Given the description of an element on the screen output the (x, y) to click on. 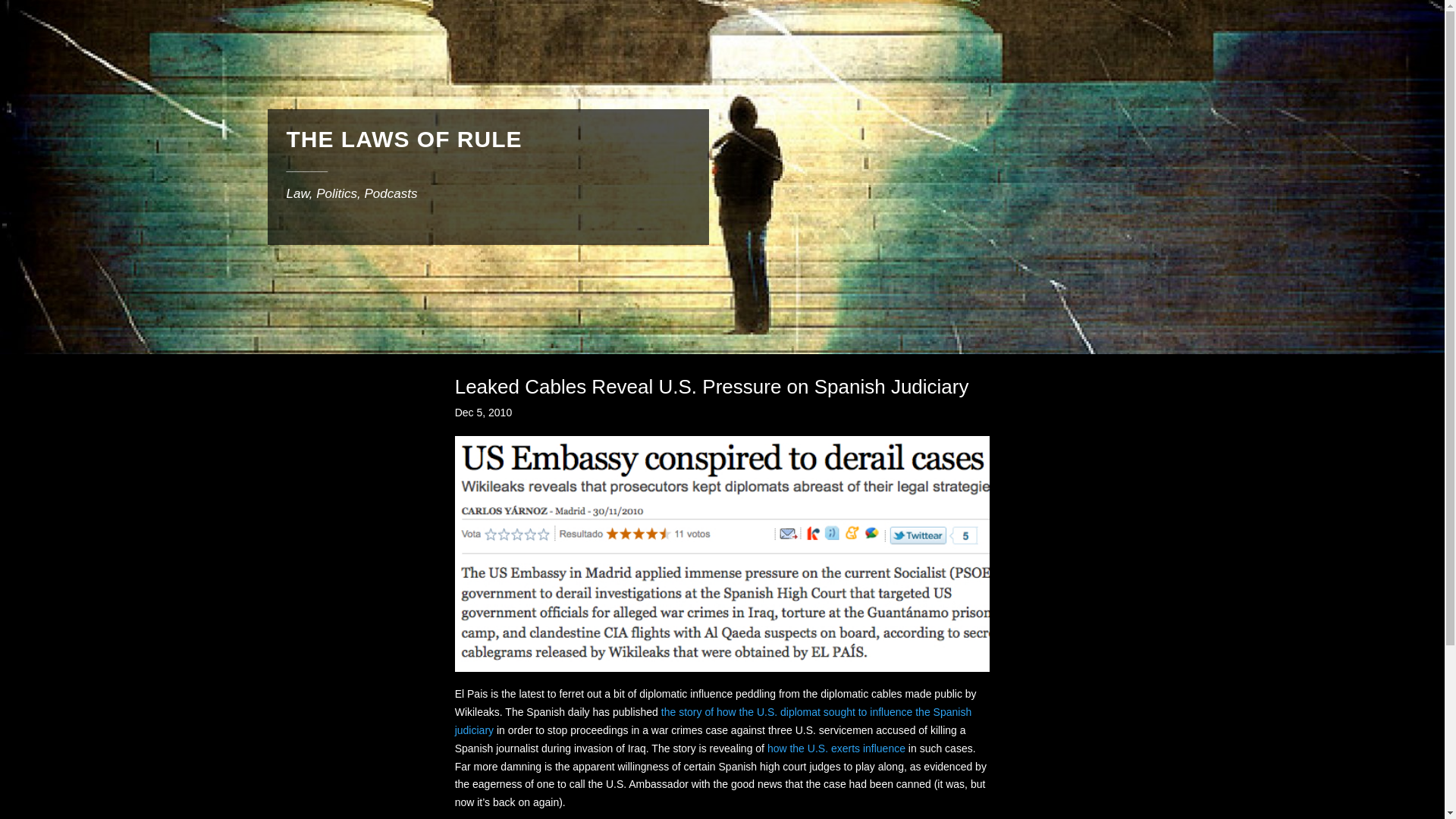
how the U.S. exerts influence (836, 748)
El Pais cablegate (722, 553)
